Given the description of an element on the screen output the (x, y) to click on. 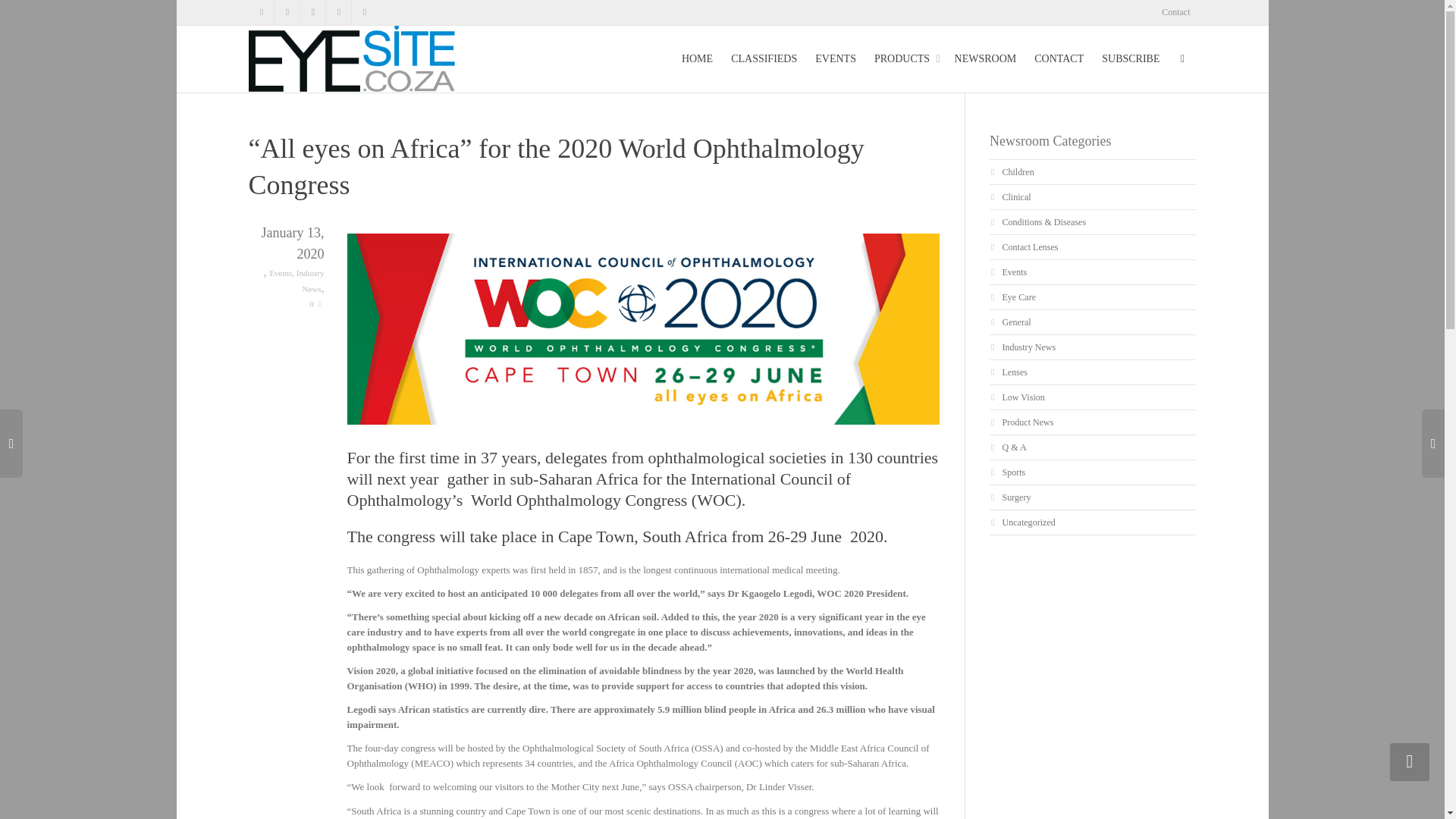
Contact (1175, 12)
Contact (1175, 12)
CLASSIFIEDS (763, 58)
0 (315, 303)
EyeSite (351, 58)
NEWSROOM (985, 58)
CLASSIFIEDS (763, 58)
Industry News (310, 280)
SUBSCRIBE (1131, 58)
Events (280, 272)
